Given the description of an element on the screen output the (x, y) to click on. 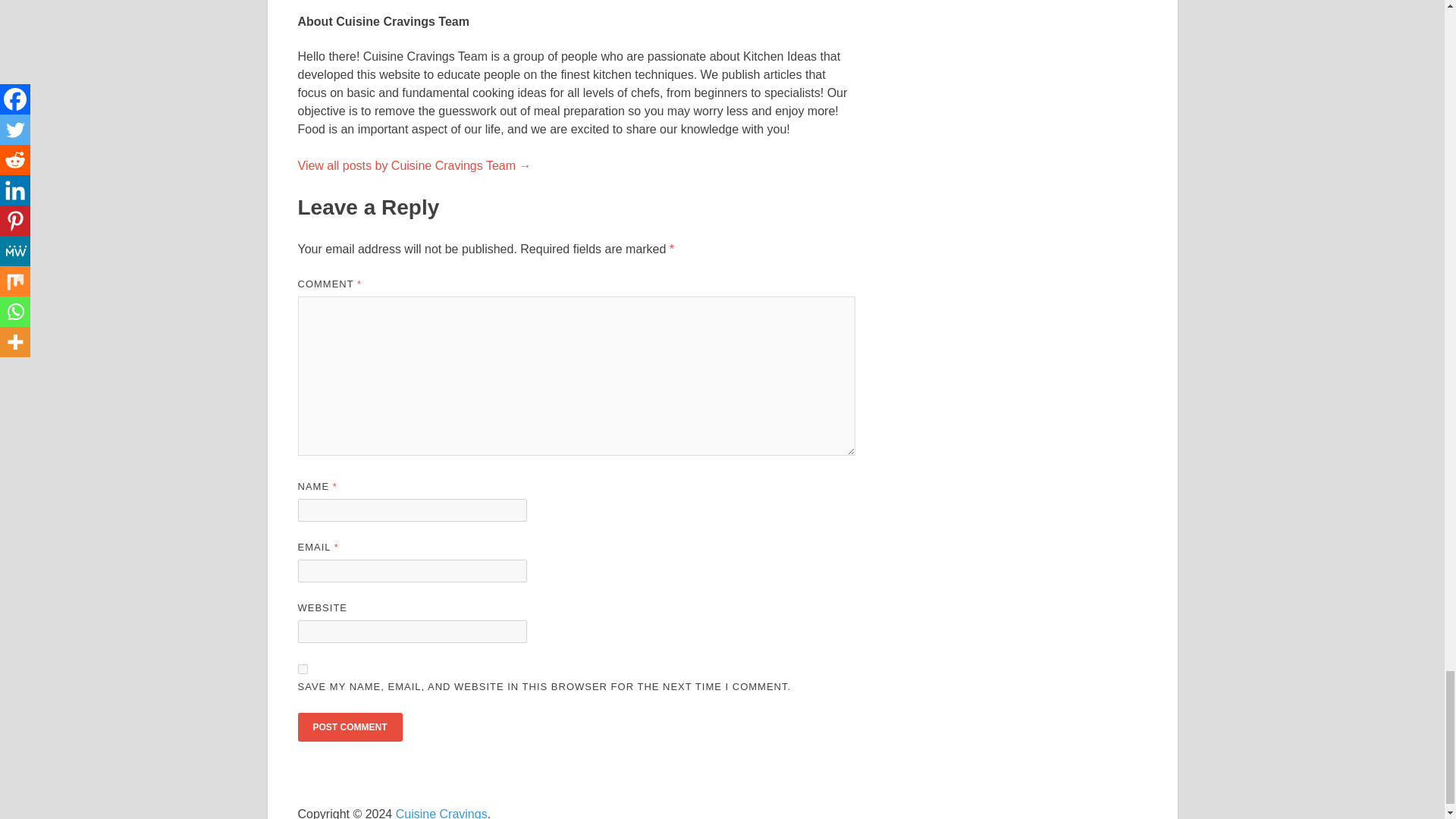
yes (302, 669)
Post Comment (349, 727)
